Given the description of an element on the screen output the (x, y) to click on. 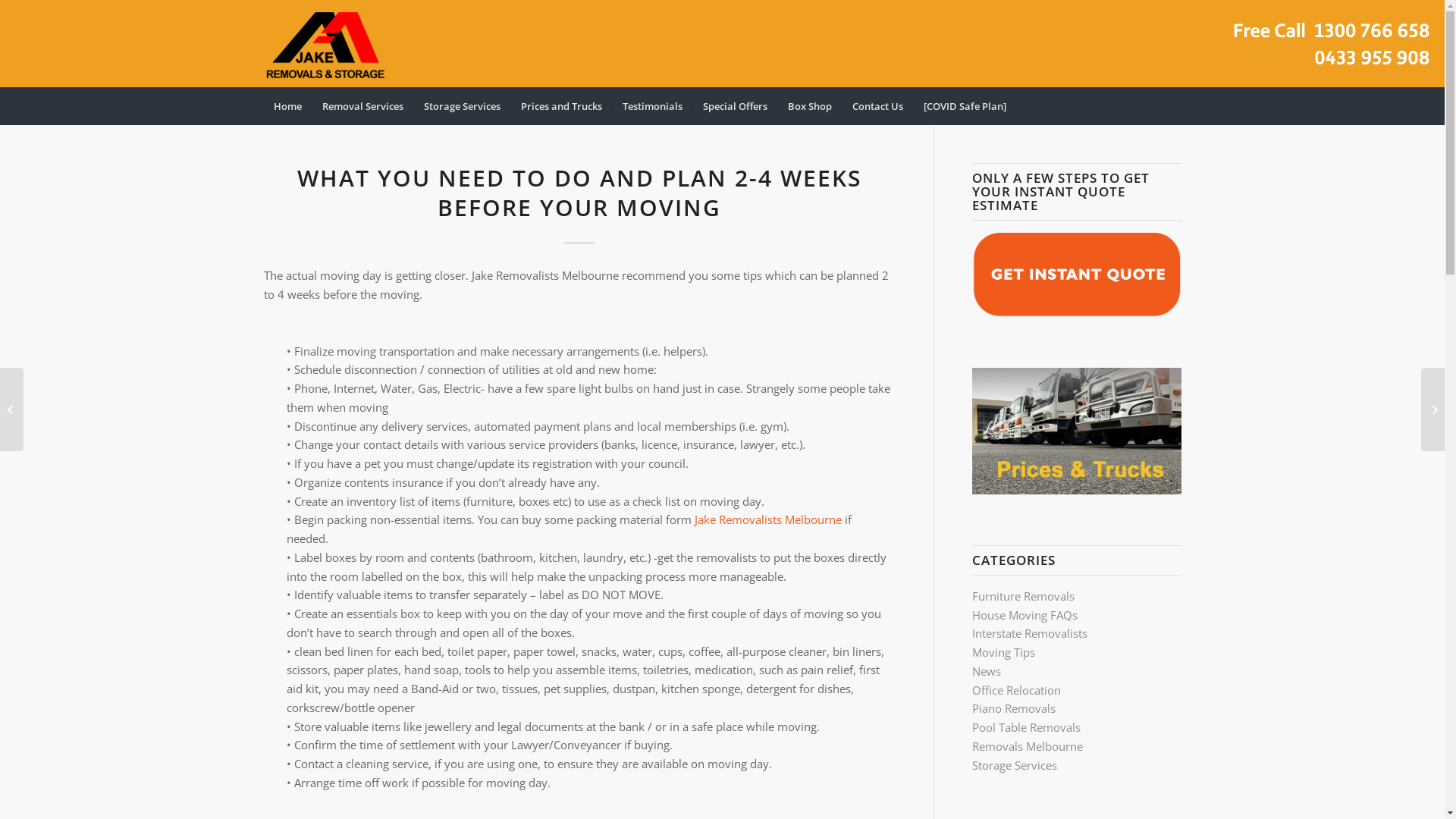
Jake Removalists Melbourne Element type: text (767, 519)
Pool Table Removals Element type: text (1026, 726)
Moving Tips Element type: text (1003, 651)
Removal Services Element type: text (361, 106)
Home Element type: text (287, 106)
Contact Us Element type: text (877, 106)
Storage Services Element type: text (460, 106)
Testimonials Element type: text (651, 106)
Special Offers Element type: text (733, 106)
[COVID Safe Plan] Element type: text (964, 106)
Box Shop Element type: text (808, 106)
News Element type: text (986, 670)
WHAT YOU NEED TO DO AND PLAN 2-4 WEEKS BEFORE YOUR MOVING Element type: text (579, 192)
Piano Removals Element type: text (1013, 707)
Interstate Removalists Element type: text (1029, 632)
House Moving FAQs Element type: text (1024, 614)
Removals Melbourne Element type: text (1027, 745)
Furniture Removals Element type: text (1023, 595)
Prices and Trucks Element type: text (560, 106)
Office Relocation Element type: text (1016, 689)
Storage Services Element type: text (1014, 764)
